Given the description of an element on the screen output the (x, y) to click on. 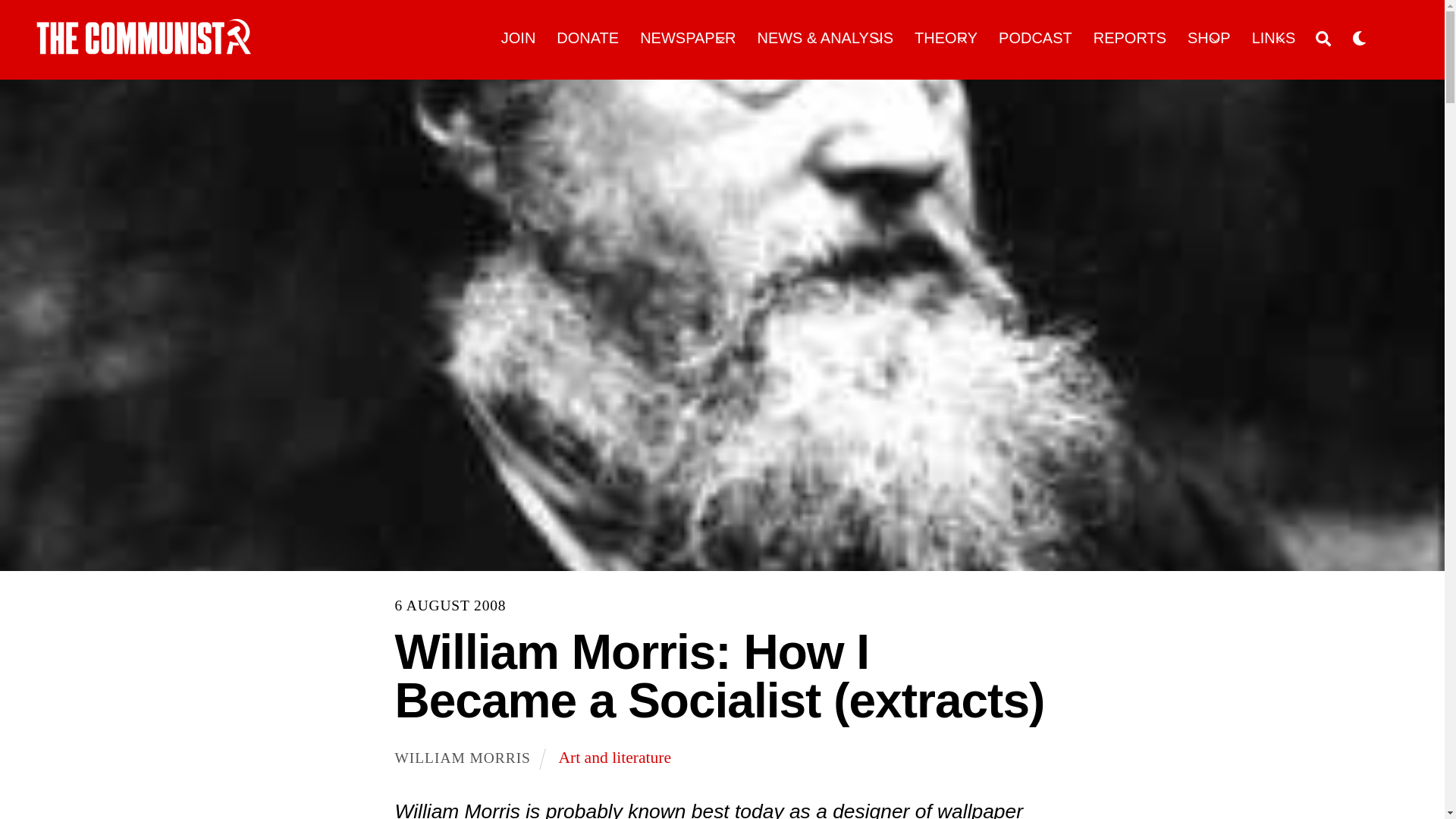
NEWSPAPER (688, 37)
The Communist (143, 37)
DONATE (587, 37)
The Communist (143, 49)
